Given the description of an element on the screen output the (x, y) to click on. 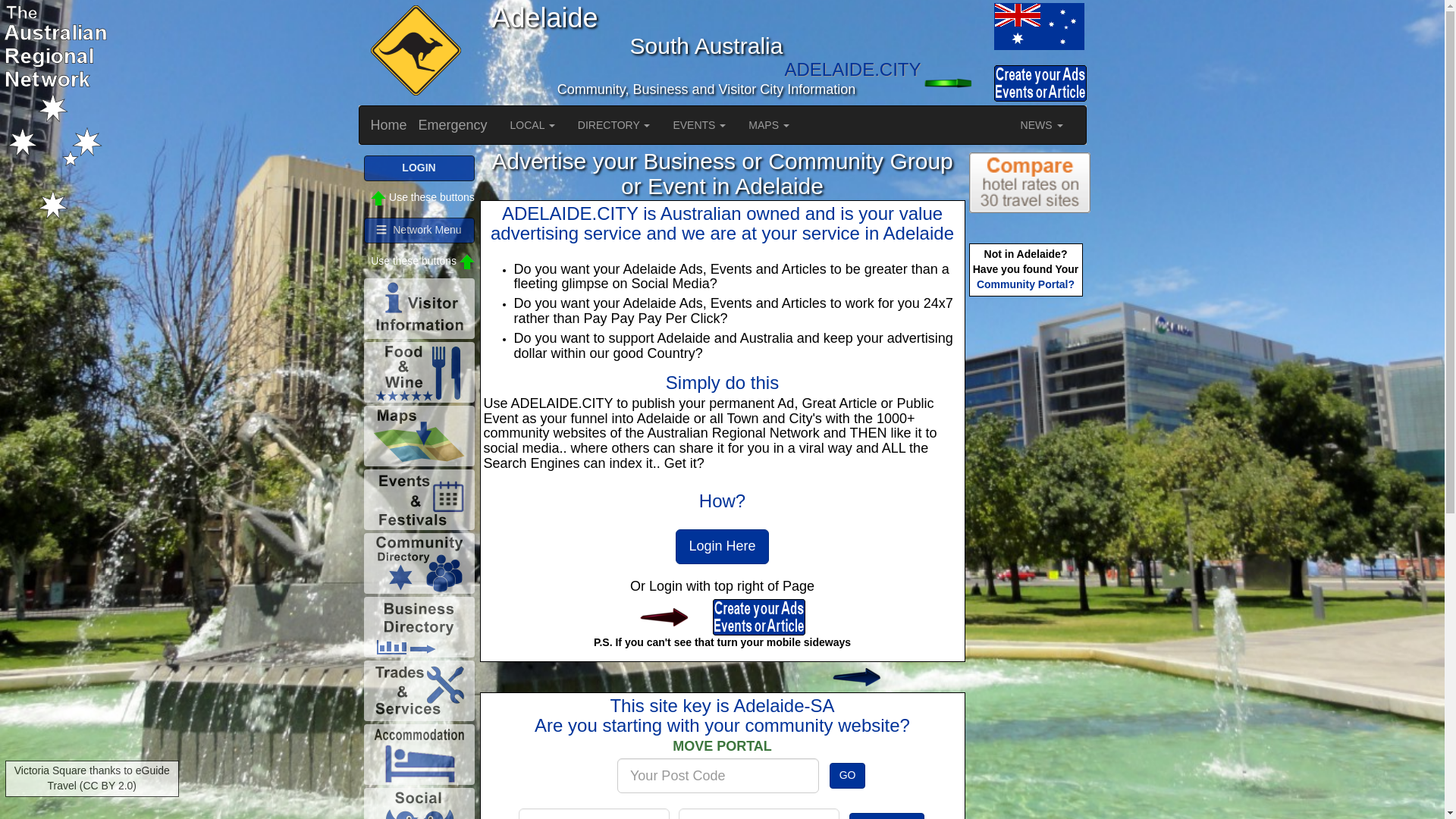
GO THERE (886, 816)
DIRECTORY (614, 125)
Home (389, 125)
Emergency (453, 125)
LOCAL (532, 125)
Click to Login to adelaide.city (676, 617)
Adelaide Australia (1037, 26)
Login to adelaide.city (956, 83)
Australia (956, 26)
Adelaide Skippycoin ICG (413, 52)
Please like our Page (861, 677)
Adelaide Hotel Search Engine (1029, 182)
